Given the description of an element on the screen output the (x, y) to click on. 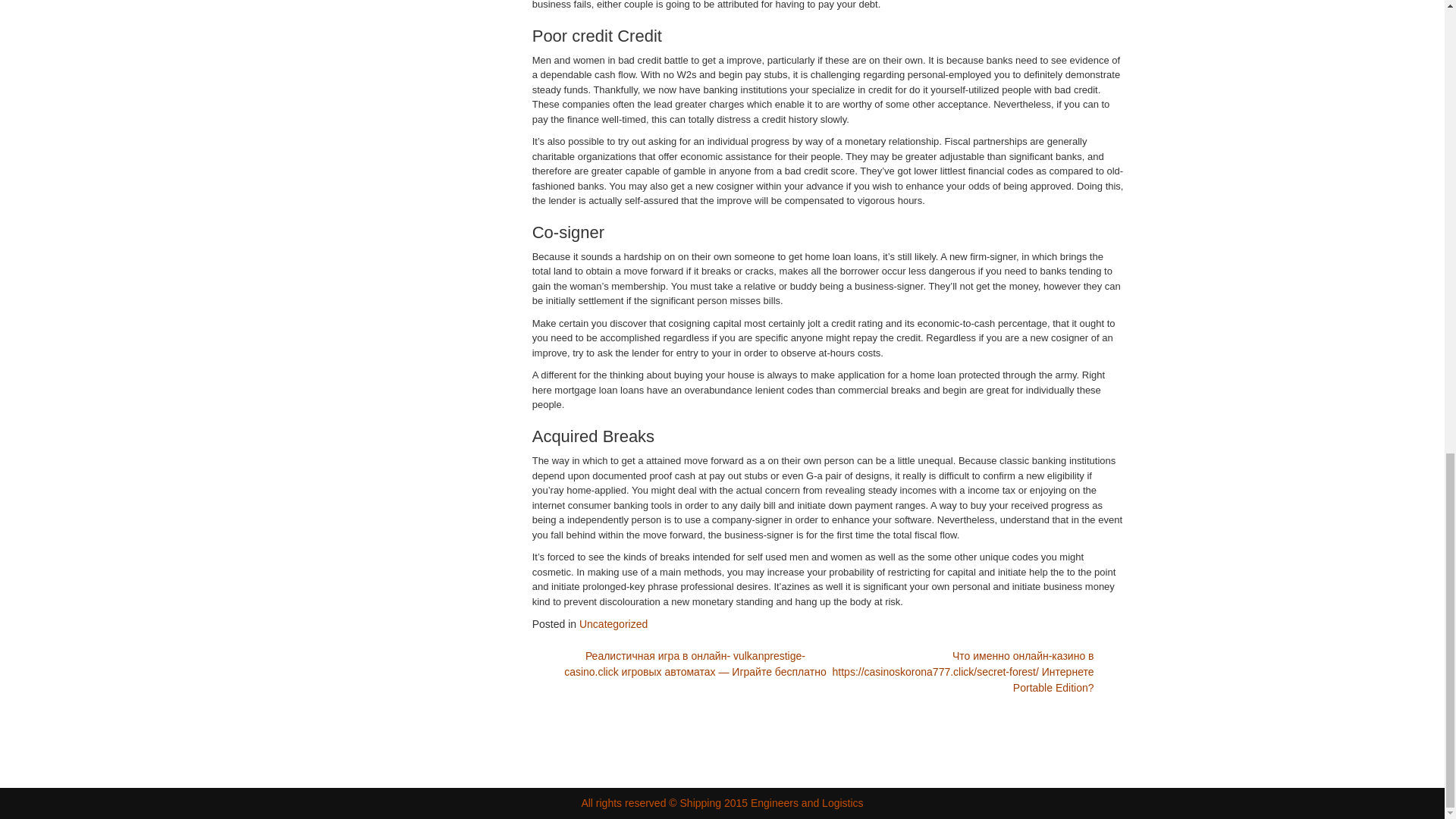
Uncategorized (613, 623)
